Given the description of an element on the screen output the (x, y) to click on. 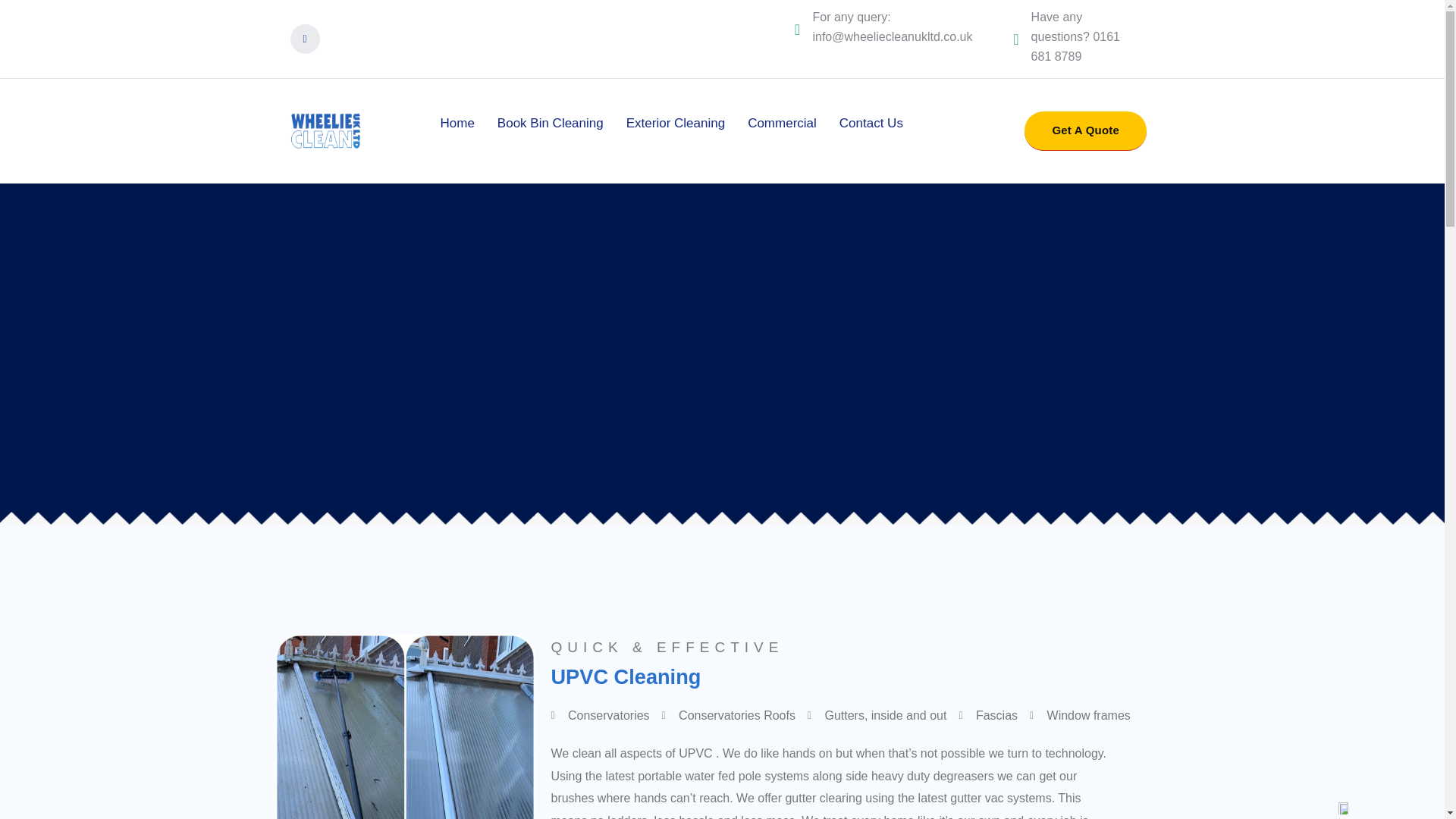
Commercial (781, 123)
Have any questions? 0161 681 8789 (1074, 36)
Book Bin Cleaning (550, 123)
Exterior Cleaning (675, 123)
Facebook-f (303, 39)
